Given the description of an element on the screen output the (x, y) to click on. 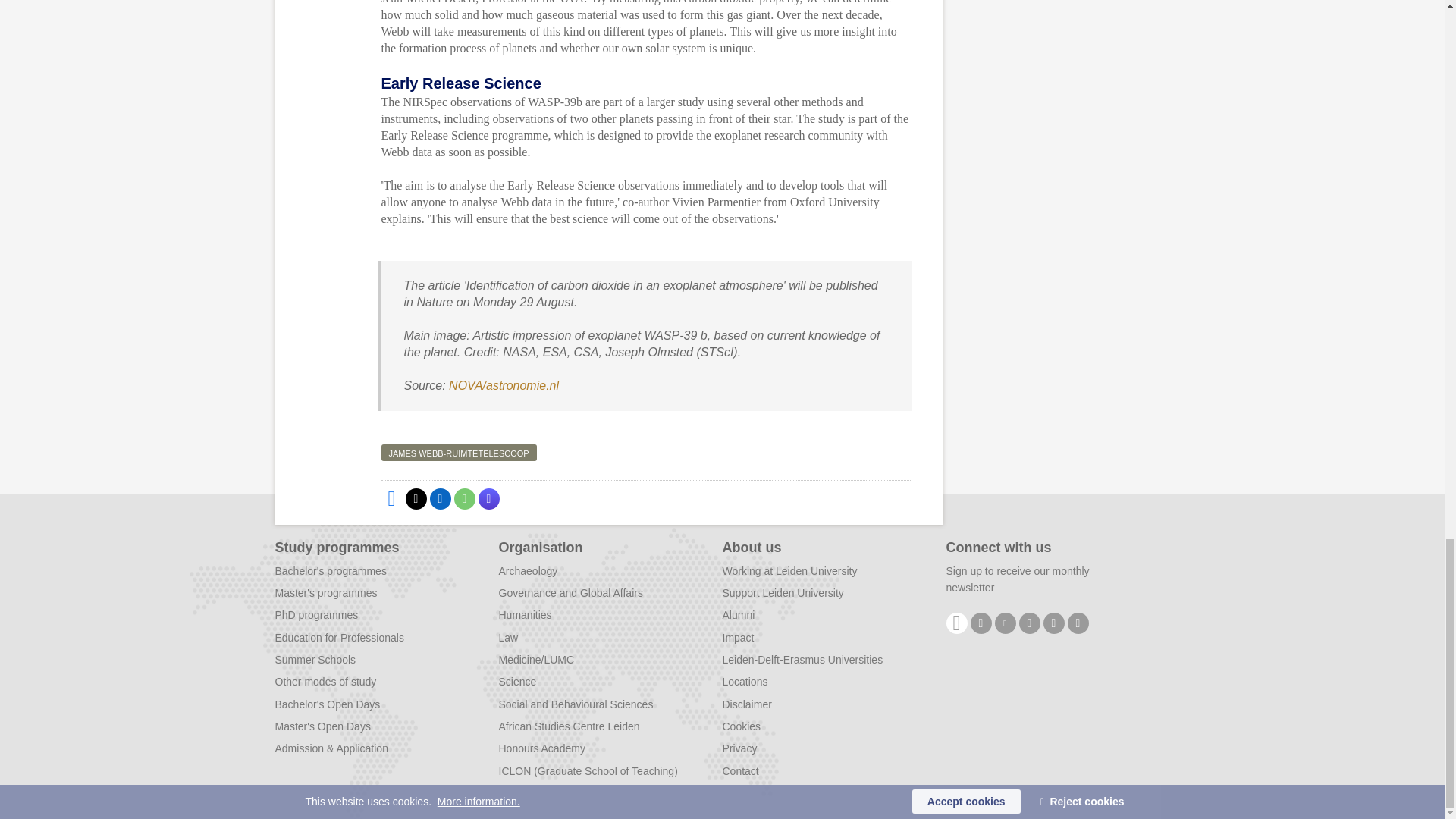
Share on X (415, 498)
Share on Facebook (390, 498)
Share on LinkedIn (439, 498)
JAMES WEBB-RUIMTETELESCOOP (457, 452)
Share by WhatsApp (463, 498)
Share by Mastodon (488, 498)
